Given the description of an element on the screen output the (x, y) to click on. 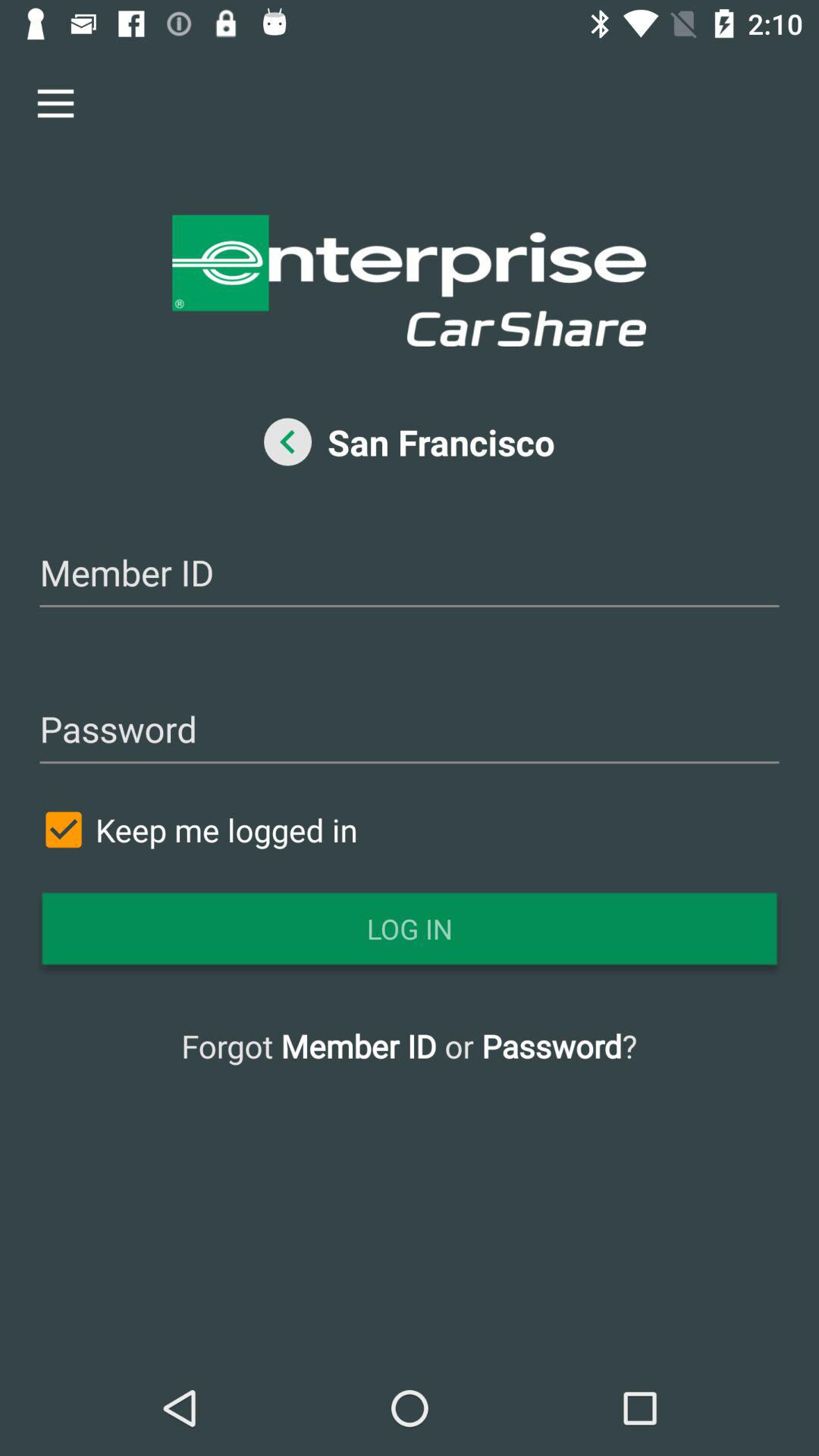
fill in member id (409, 574)
